Given the description of an element on the screen output the (x, y) to click on. 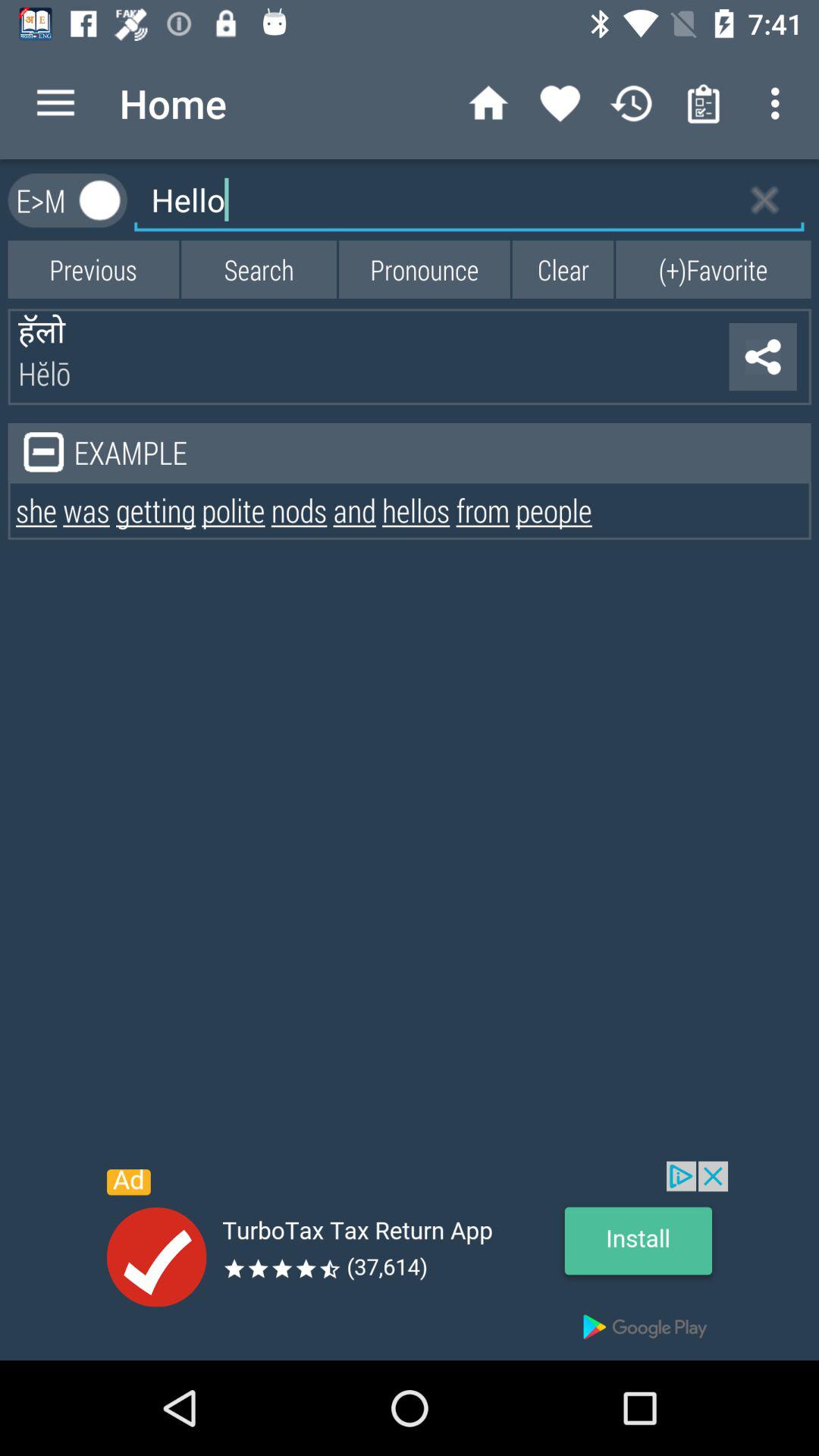
open advertisement (409, 1260)
